Given the description of an element on the screen output the (x, y) to click on. 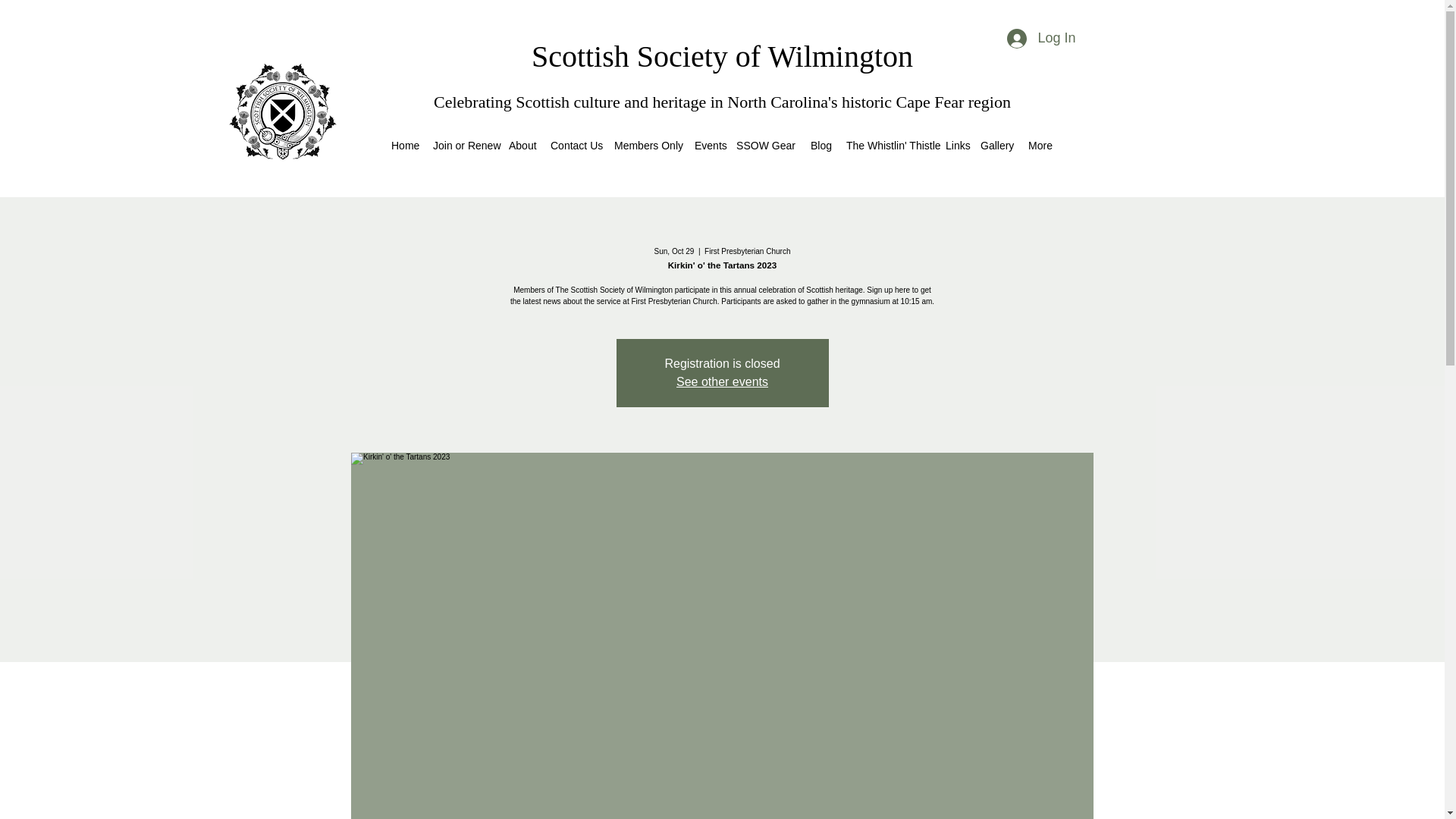
Log In (1040, 38)
The Whistlin' Thistle (887, 145)
See other events (722, 381)
Contact Us (575, 145)
About (521, 145)
Members Only (647, 145)
Gallery (996, 145)
Join or Renew (462, 145)
SSOW Gear (766, 145)
Events (708, 145)
